Given the description of an element on the screen output the (x, y) to click on. 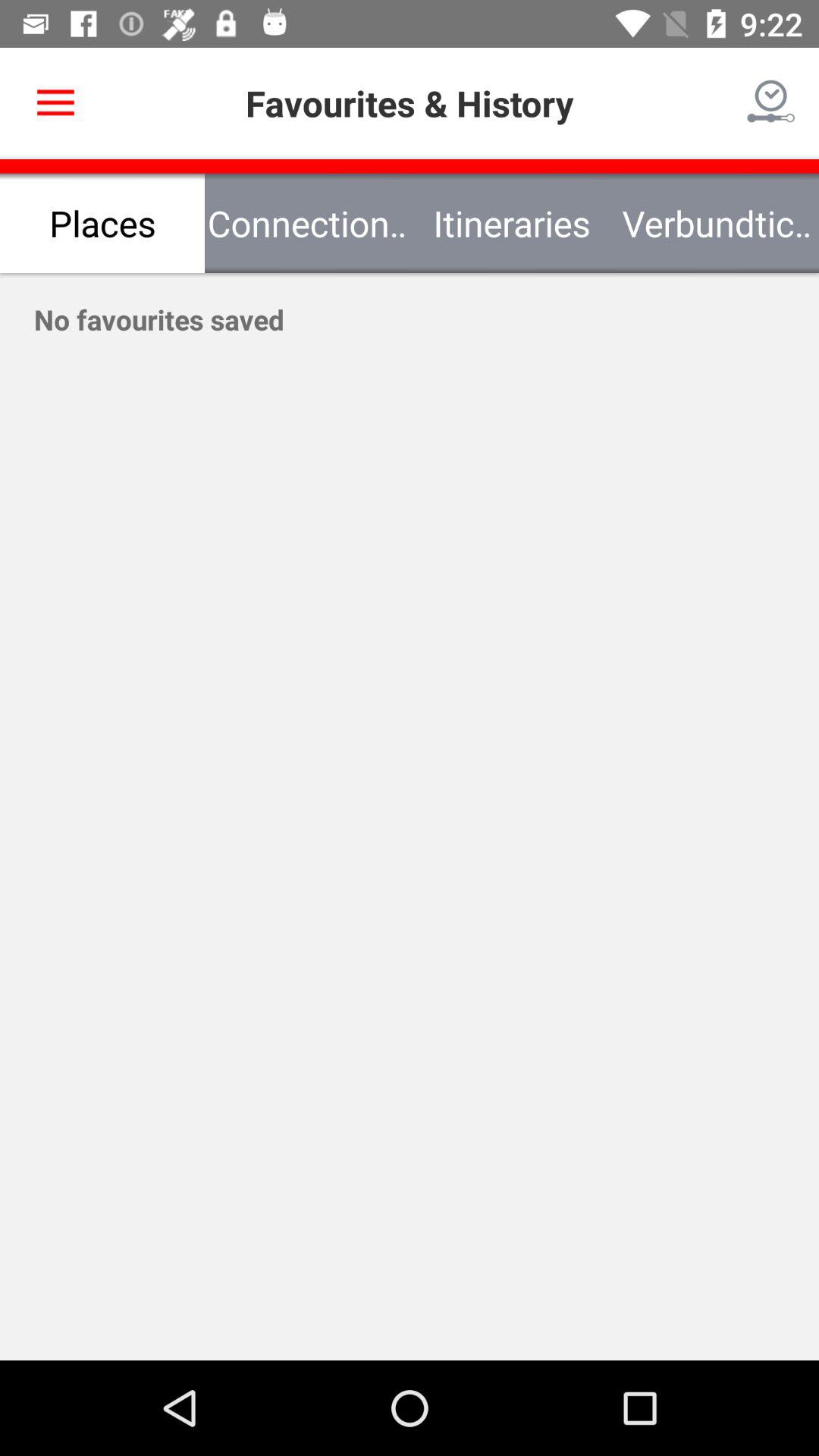
open the icon next to the favourites & history item (771, 103)
